Given the description of an element on the screen output the (x, y) to click on. 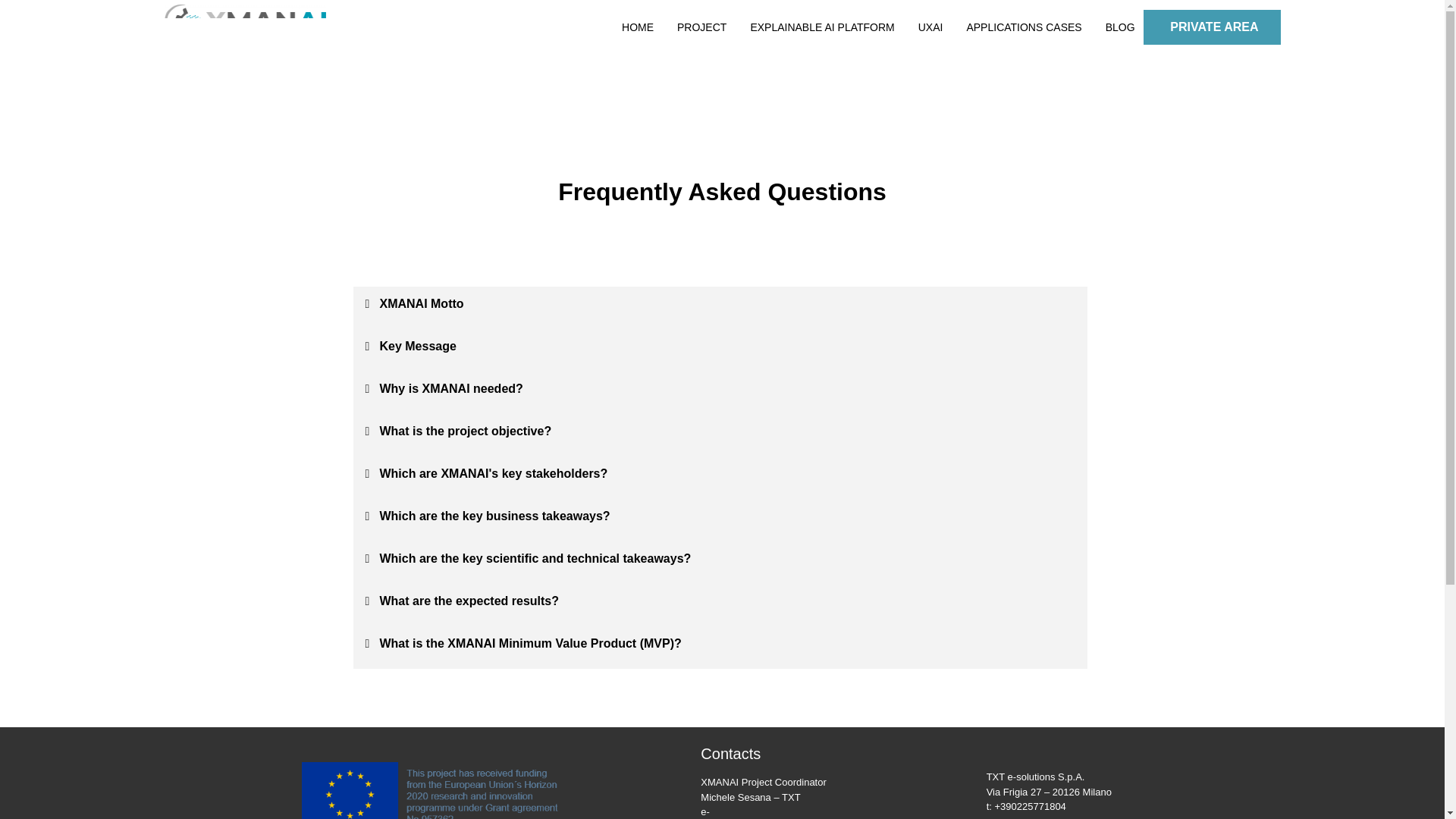
EXPLAINABLE AI PLATFORM (821, 27)
Why is XMANAI needed? (450, 388)
APPLICATIONS CASES (1023, 27)
What is the project objective? (464, 431)
Key Message (416, 345)
PRIVATE AREA (1211, 27)
BLOG (1120, 27)
XMANAI Motto (420, 303)
UXAI (930, 27)
Which are XMANAI's key stakeholders? (492, 472)
PROJECT (701, 27)
HOME (637, 27)
